Given the description of an element on the screen output the (x, y) to click on. 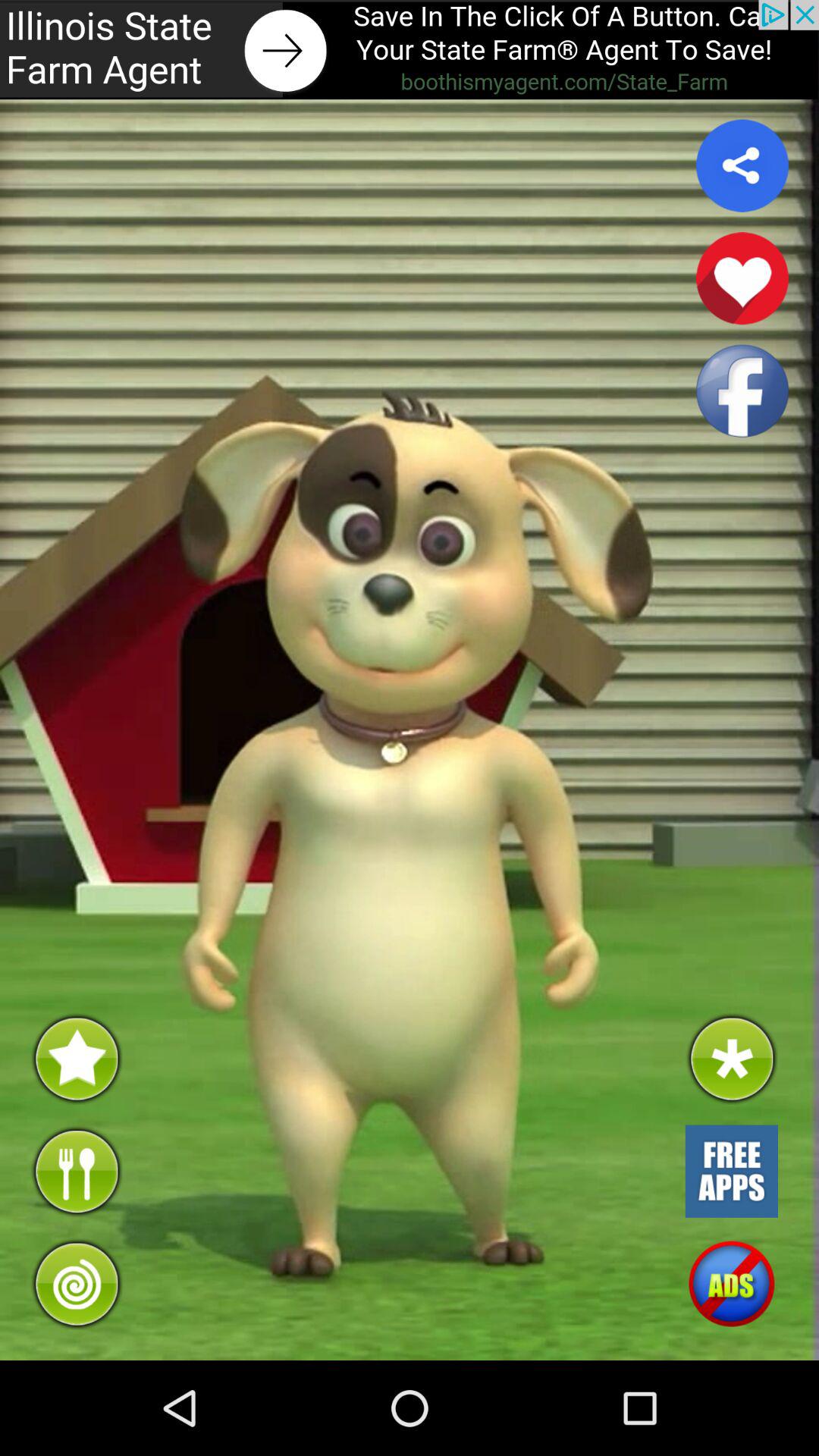
facebook button (742, 390)
